Given the description of an element on the screen output the (x, y) to click on. 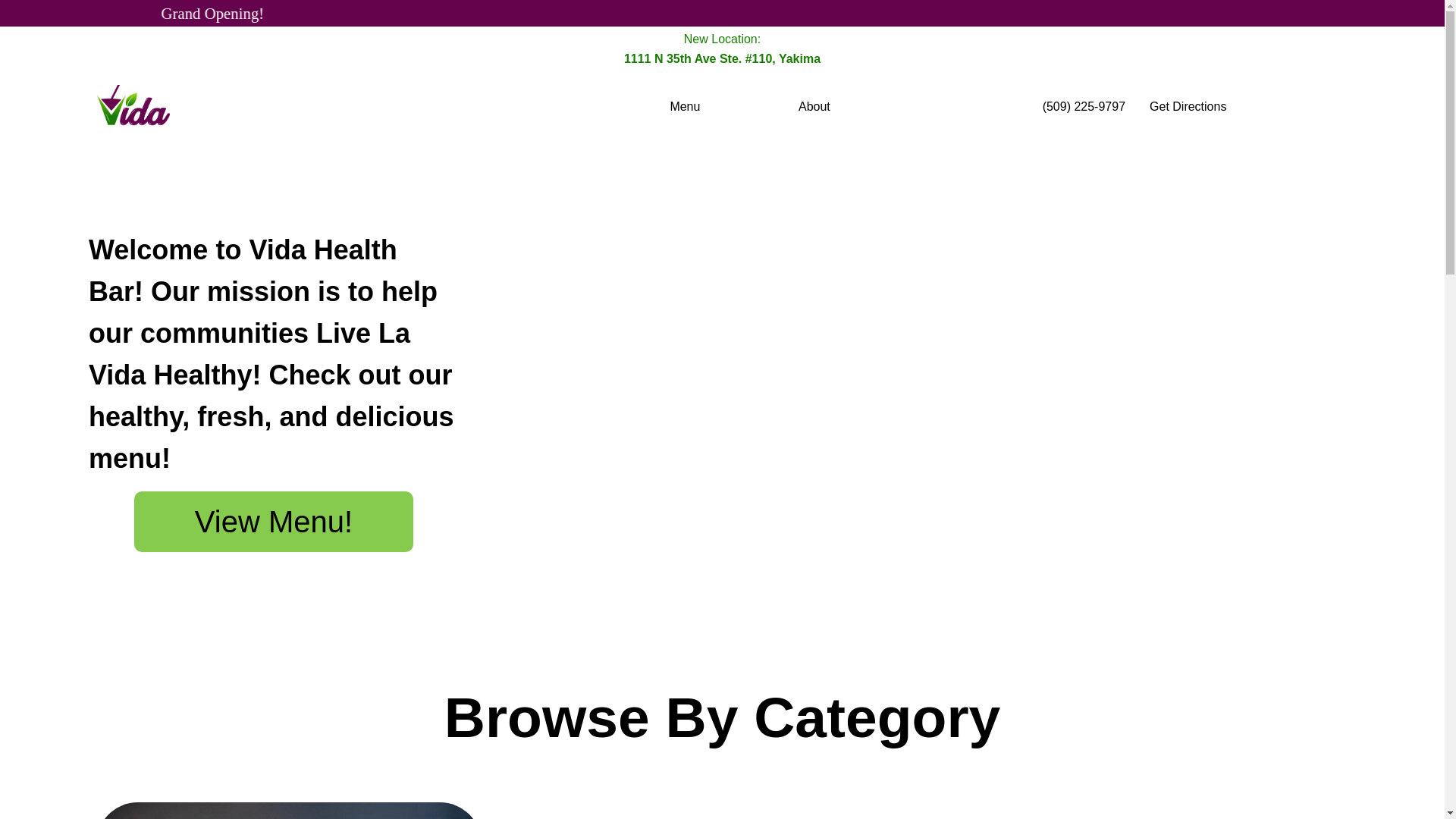
About (813, 106)
Get Directions to Vida Health Bar Today (1187, 106)
Call Vida Health Bar Today (1083, 106)
Get Directions (1187, 106)
Menu (684, 106)
View Menu! (273, 521)
Smoothie (288, 810)
Discover What Vida Health Bar is About (813, 106)
